Given the description of an element on the screen output the (x, y) to click on. 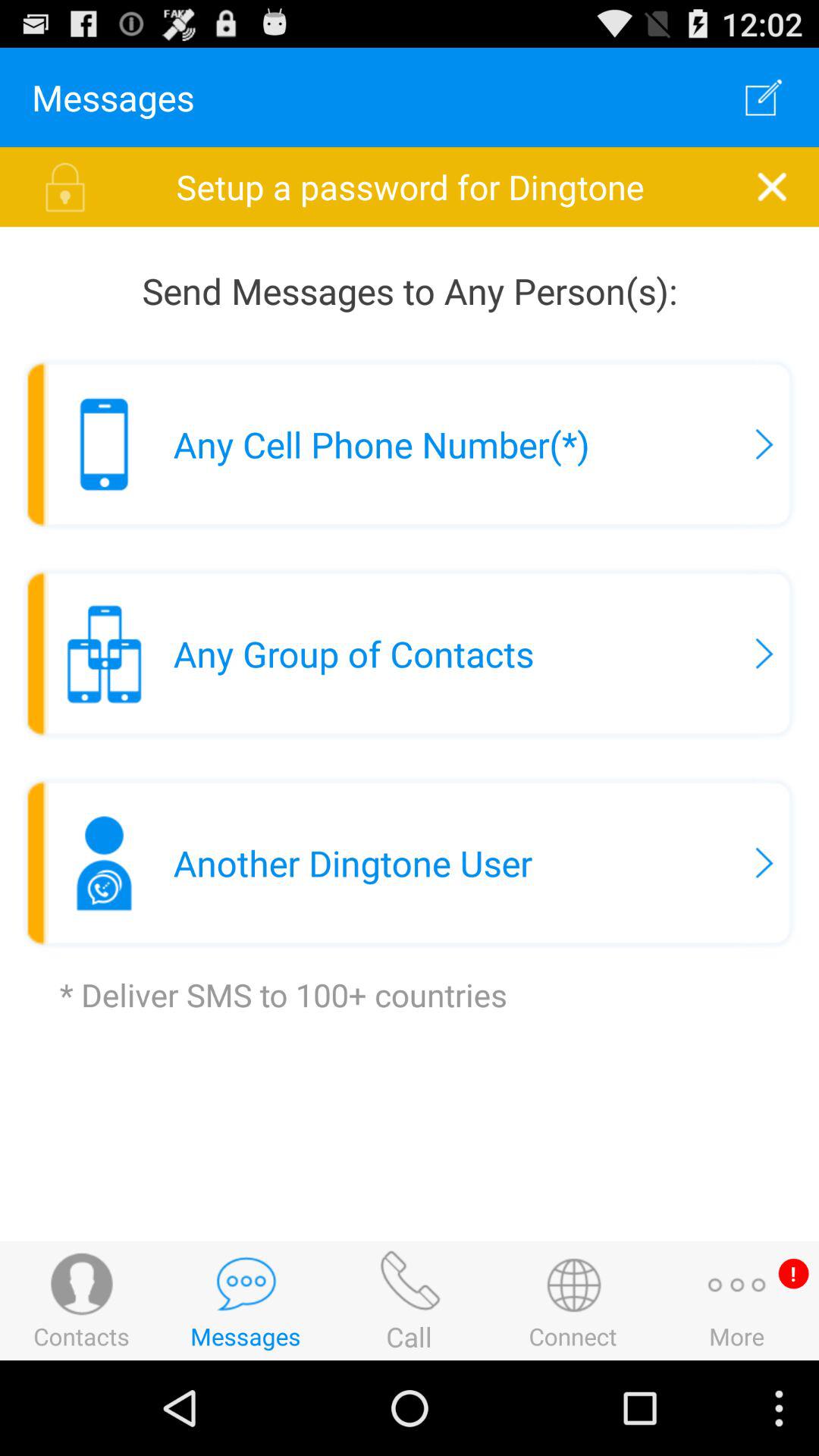
launch the item next to the messages icon (763, 97)
